Given the description of an element on the screen output the (x, y) to click on. 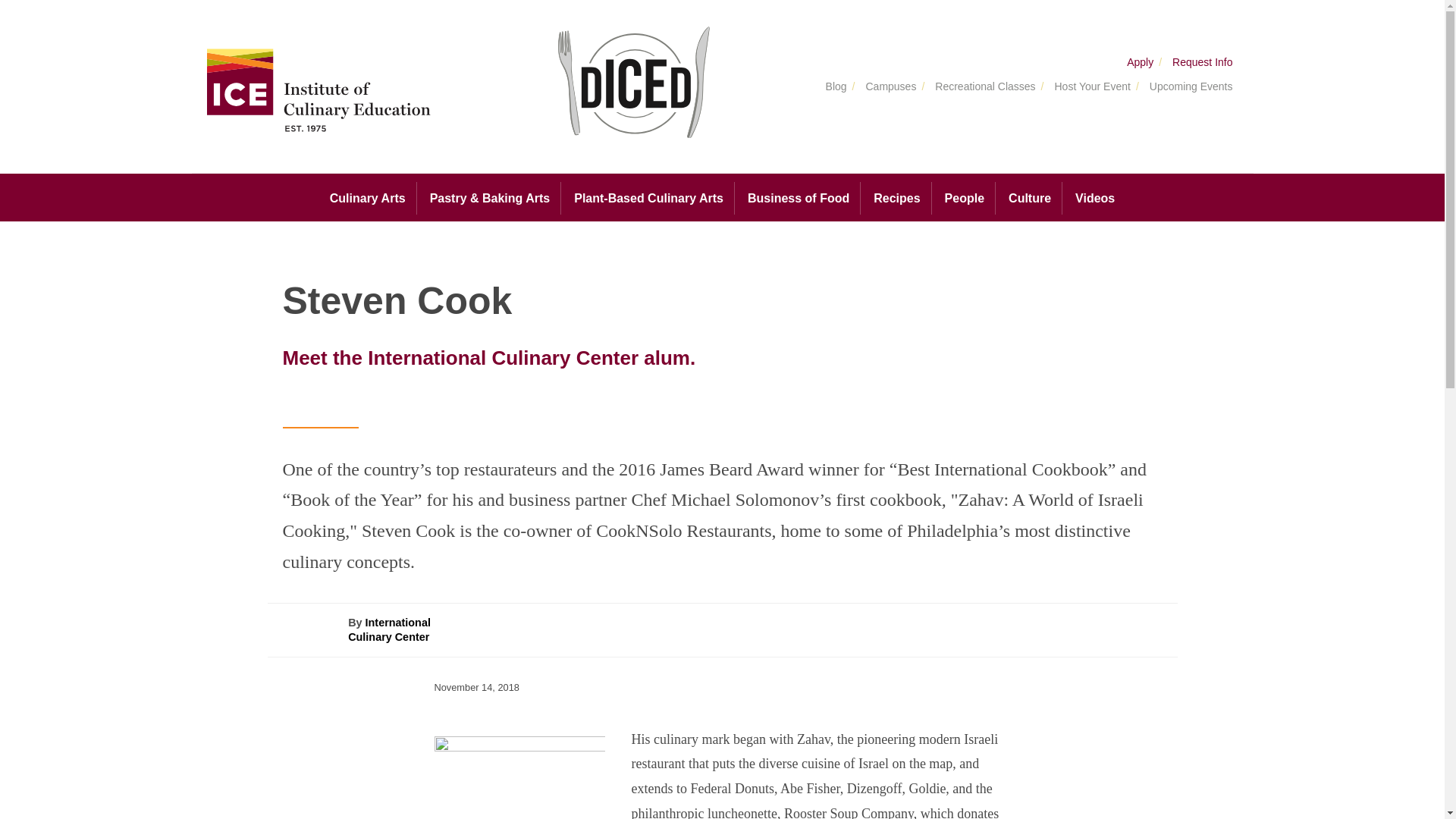
Blog (833, 87)
Recreational Classes (981, 87)
Request Info (1197, 62)
Plant-Based Culinary Arts (648, 198)
Host Your Event (1088, 87)
People (964, 198)
Videos (1094, 198)
Upcoming Events (1187, 87)
International Culinary Center (388, 629)
Recipes (896, 198)
Campuses (886, 87)
Apply (1137, 62)
Culinary Arts (367, 197)
